Given the description of an element on the screen output the (x, y) to click on. 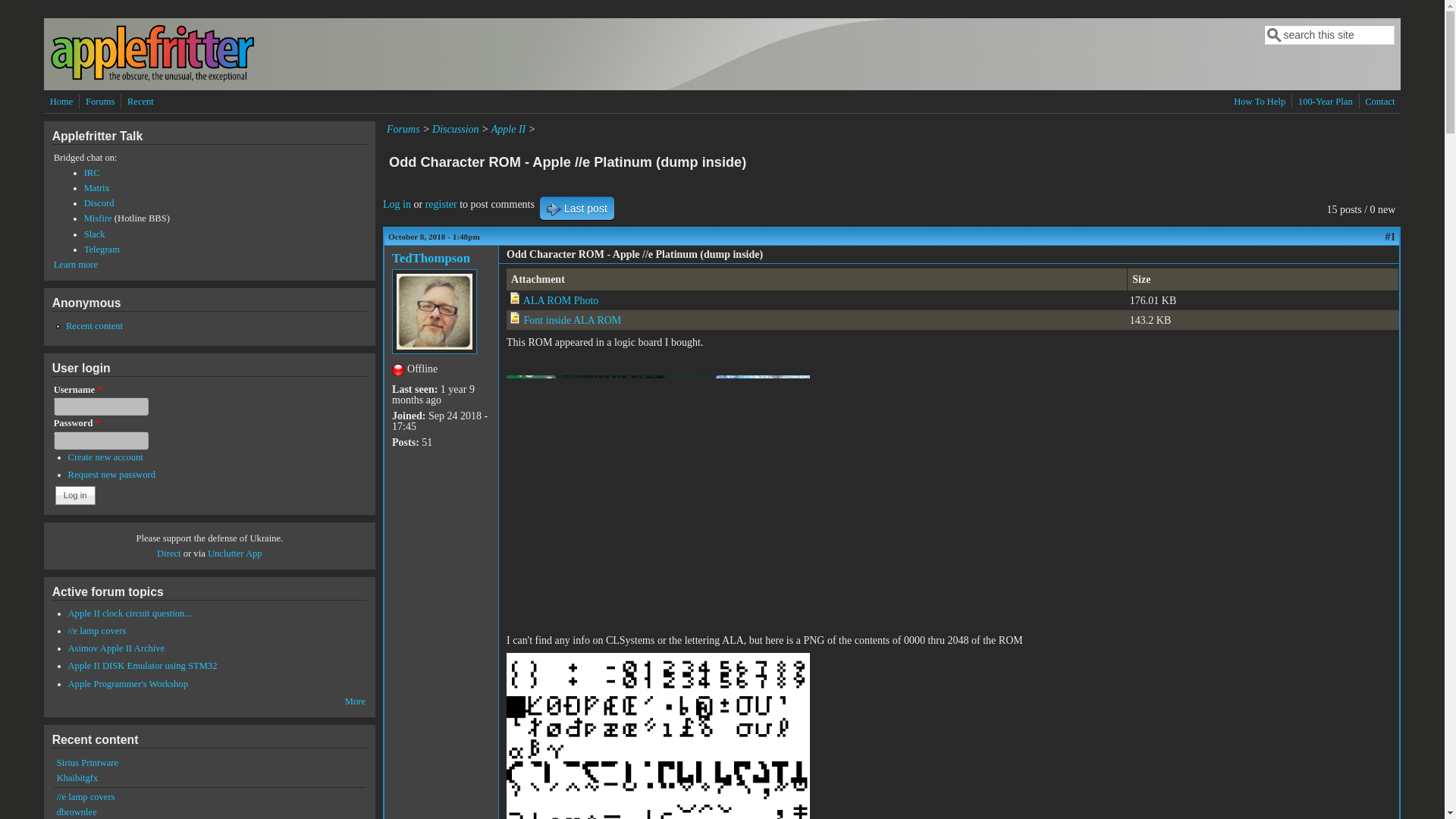
Log in (75, 495)
Recent (140, 101)
View user profile. (430, 257)
Forums (403, 129)
Discussion (455, 129)
Home (151, 79)
TedThompson's picture (434, 311)
Log in (396, 204)
search this site (1328, 35)
